Given the description of an element on the screen output the (x, y) to click on. 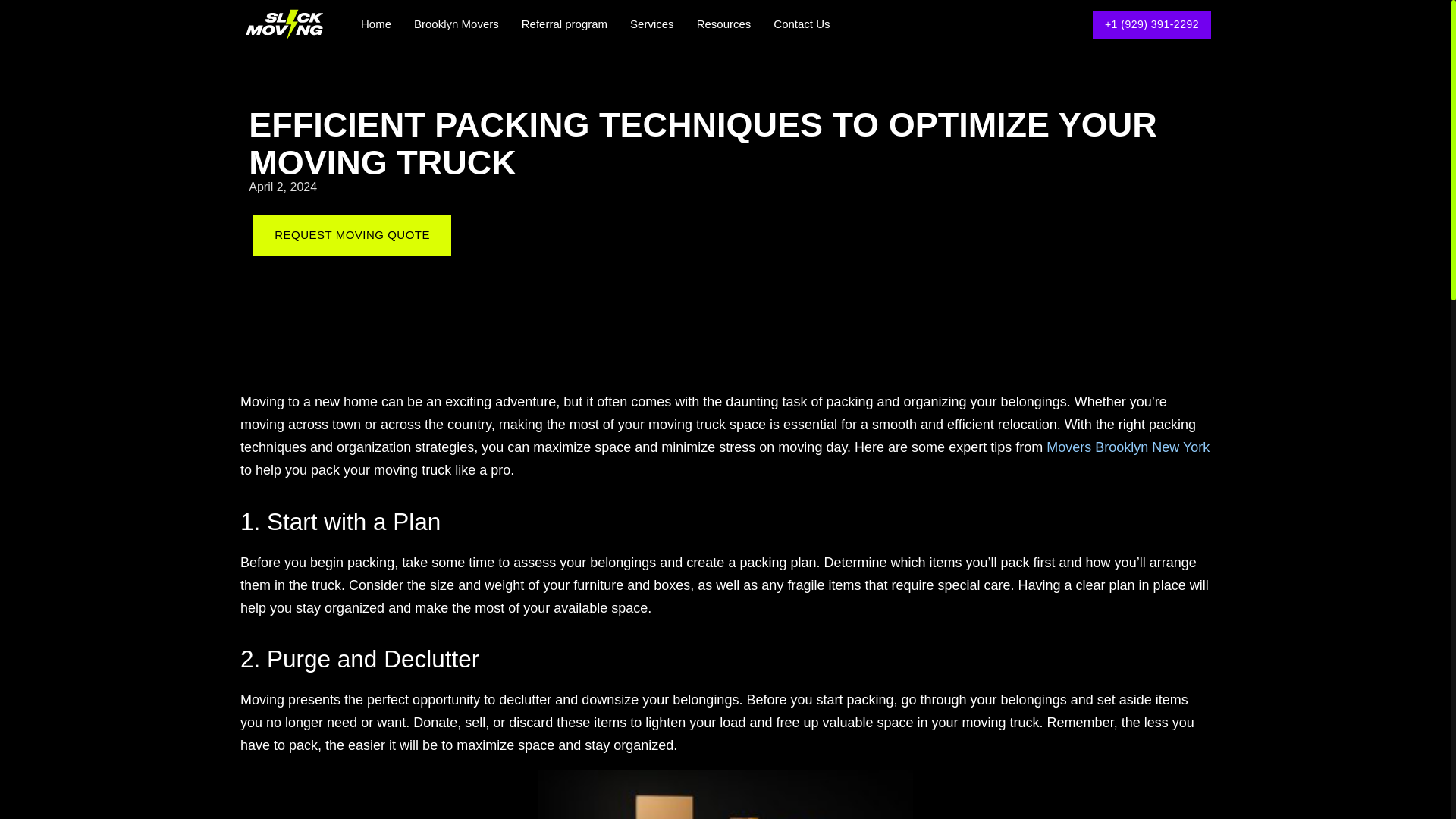
Brooklyn Movers (457, 24)
Services (651, 24)
Home (376, 24)
Referral program (564, 24)
